Given the description of an element on the screen output the (x, y) to click on. 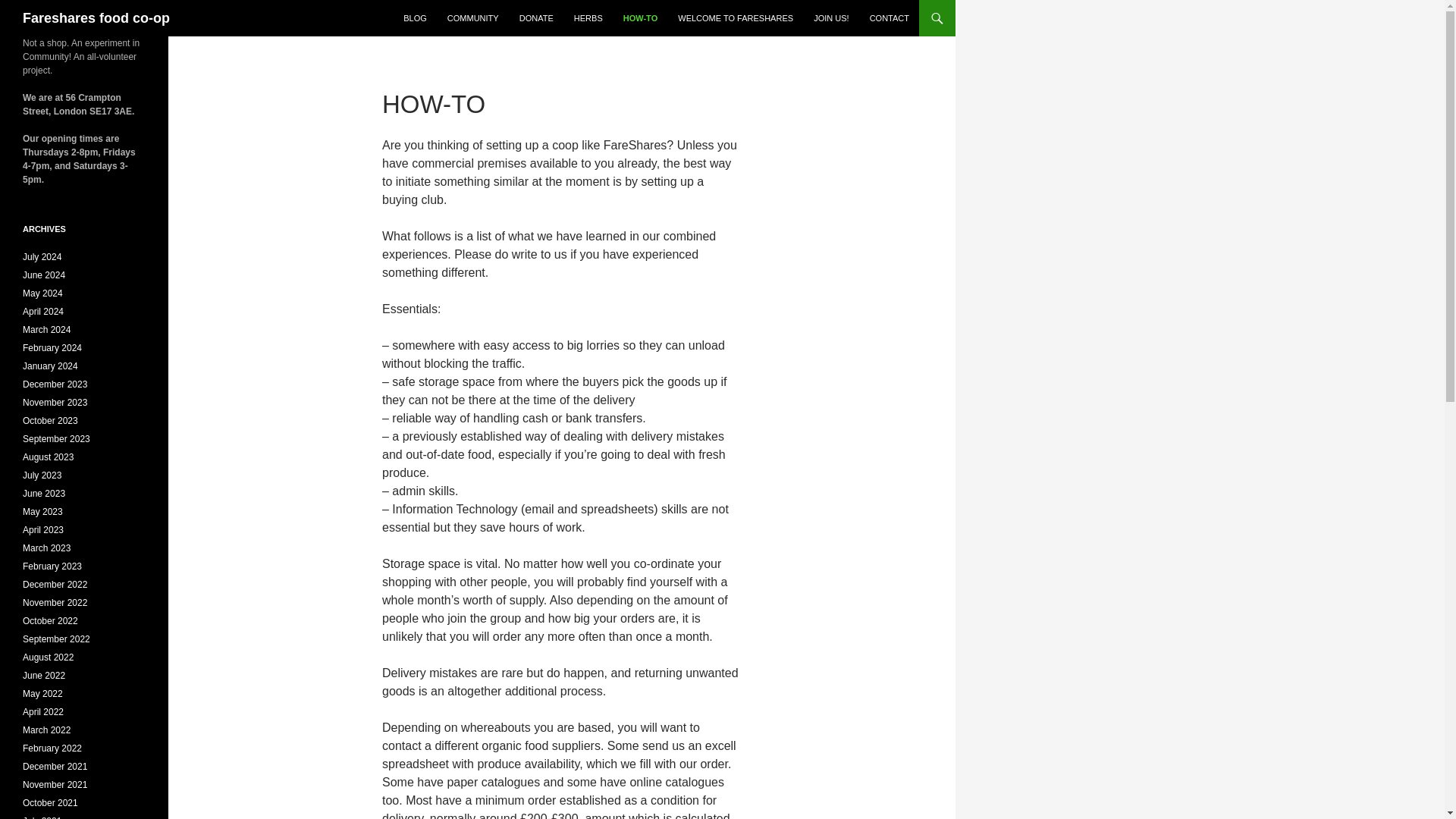
October 2022 (50, 620)
May 2024 (42, 293)
DONATE (536, 18)
July 2024 (42, 256)
JOIN US! (831, 18)
WELCOME TO FARESHARES (735, 18)
August 2023 (48, 457)
HOW-TO (640, 18)
June 2023 (44, 493)
BLOG (414, 18)
April 2024 (43, 311)
January 2024 (50, 366)
February 2024 (52, 347)
November 2023 (55, 402)
March 2024 (46, 329)
